Given the description of an element on the screen output the (x, y) to click on. 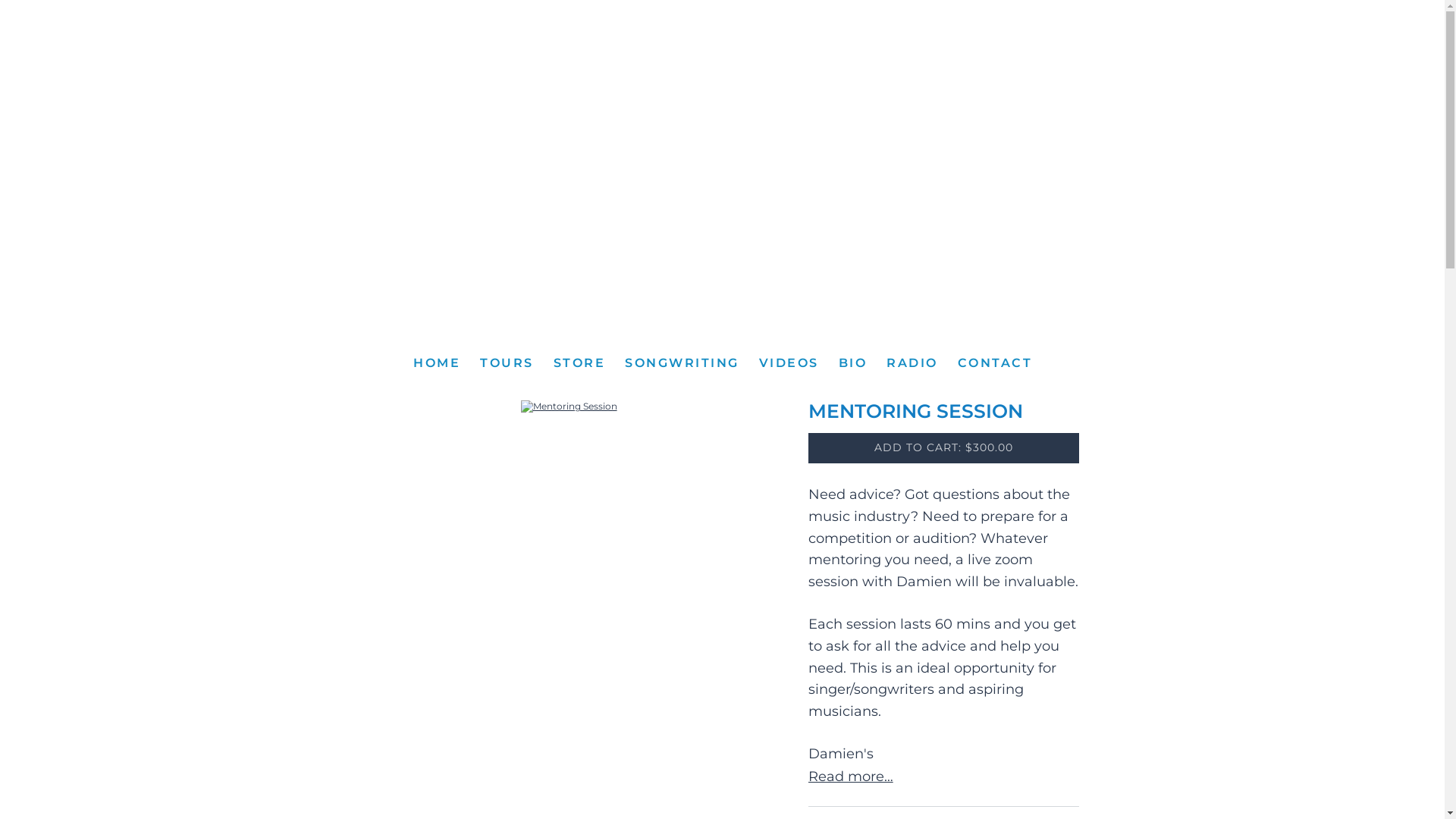
HOME Element type: text (435, 362)
CONTACT Element type: text (994, 362)
Mentoring Session  Element type: hover (568, 406)
BIO Element type: text (851, 362)
VIDEOS Element type: text (788, 362)
TOURS Element type: text (506, 362)
STORE Element type: text (578, 362)
RADIO Element type: text (911, 362)
ADD TO CART: $300.00 Element type: text (943, 448)
SONGWRITING Element type: text (681, 362)
